Given the description of an element on the screen output the (x, y) to click on. 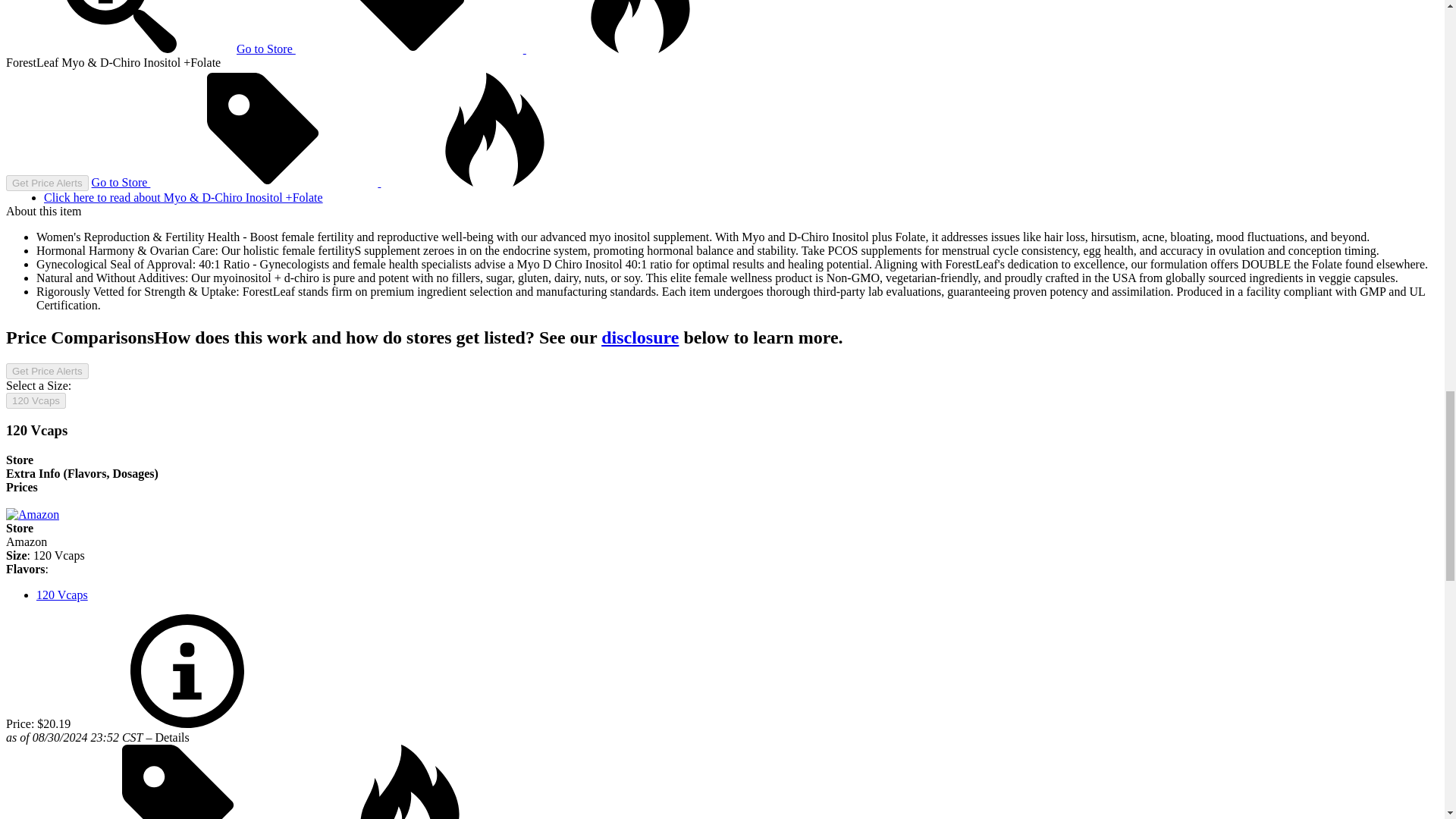
A coupon is available! Click to see the coupon code. (178, 781)
This is a Buy 1 Get 1 FREE offer! (494, 129)
This is a Buy 1 Get 1 FREE offer! (408, 781)
This is a Buy 1 Get 1 FREE offer! (639, 26)
A coupon is available! Click to see the coupon code. (408, 26)
Zoom In (118, 26)
A coupon is available! Click to see the coupon code. (263, 129)
